Given the description of an element on the screen output the (x, y) to click on. 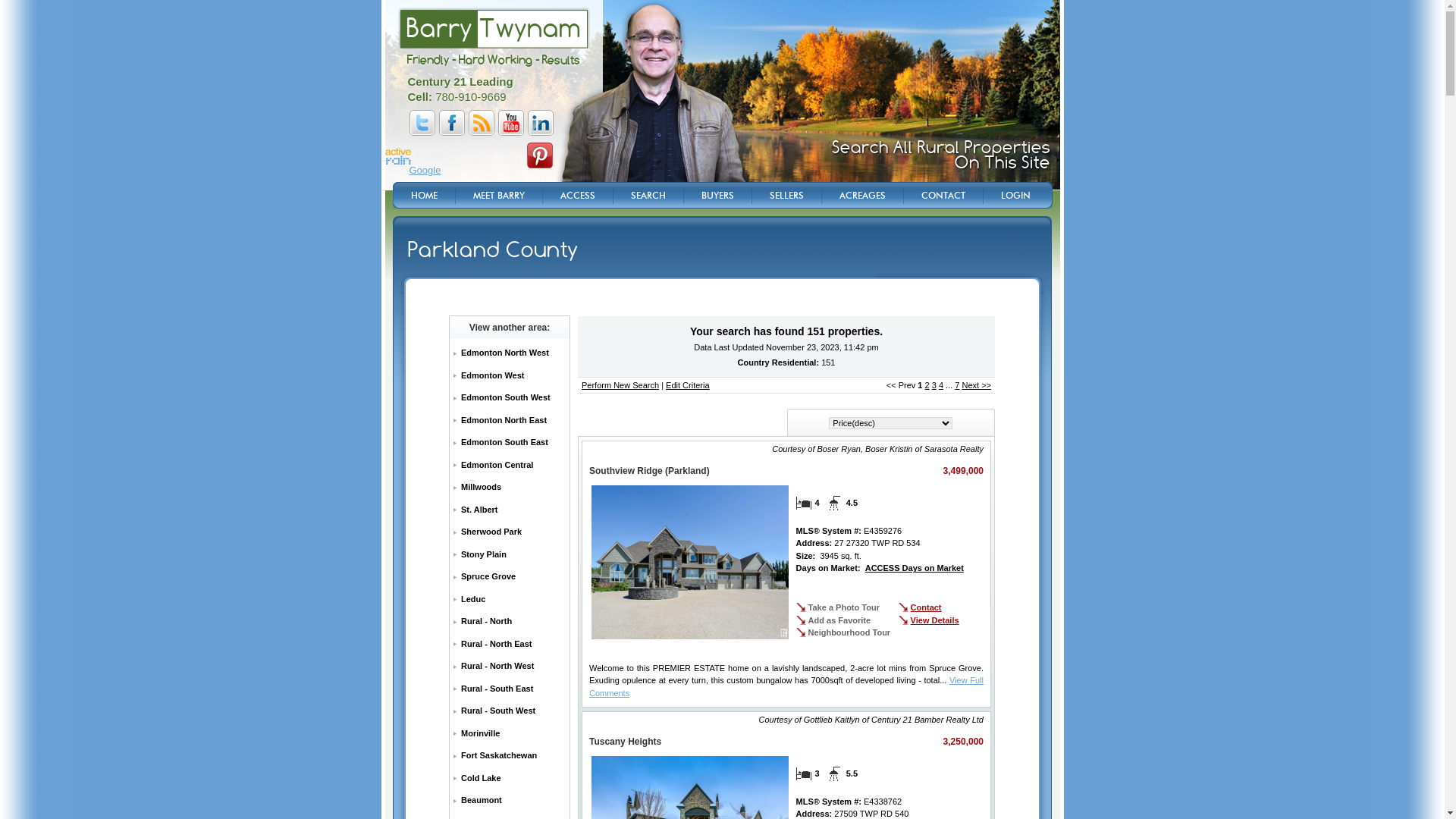
SELLERS Element type: text (785, 195)
LOGIN Element type: text (1015, 195)
and Stony Plain Listings Element type: text (955, 161)
Spruce Grove Element type: text (509, 576)
2 Element type: text (927, 384)
SEARCH Element type: text (647, 195)
Rural - North Element type: text (509, 621)
Add as Favorite Element type: text (833, 619)
Rural - South West Element type: text (509, 710)
HOME Element type: text (423, 195)
Take a Photo Tour Element type: text (837, 606)
Neighbourhood Tour Element type: text (843, 632)
CONTACT Element type: text (942, 195)
7 Element type: text (956, 384)
Edmonton Central Element type: text (509, 464)
ACCESS Days on Market Element type: text (914, 567)
Cold Lake Element type: text (509, 778)
4 Element type: text (940, 384)
Morinville Element type: text (509, 732)
Contact Element type: text (919, 606)
Rural - North East Element type: text (509, 643)
Rural - North West Element type: text (509, 666)
Google Element type: text (425, 170)
View Full Comments Element type: text (786, 686)
BUYERS Element type: text (716, 195)
Edmonton North East Element type: text (509, 420)
Stony Plain Element type: text (509, 553)
Leduc Element type: text (509, 599)
Instant Access to All Spruce Grove Element type: text (928, 154)
Next >> Element type: text (976, 384)
ACREAGES Element type: text (861, 195)
Rural - South East Element type: text (509, 688)
View Details Element type: text (928, 619)
Fort Saskatchewan Element type: text (509, 755)
Perform New Search Element type: text (619, 384)
ACCESS Element type: text (576, 195)
Search All Rural Properties On This Site Element type: text (940, 154)
Beaumont Element type: text (509, 800)
Edmonton South West Element type: text (509, 397)
Edmonton West Element type: text (509, 375)
Edmonton North West Element type: text (509, 353)
  Element type: text (578, 308)
3 Element type: text (933, 384)
Edit Criteria Element type: text (687, 384)
Edmonton South East Element type: text (509, 442)
St. Albert Element type: text (509, 509)
Millwoods Element type: text (509, 487)
Sherwood Park Element type: text (509, 531)
MEET BARRY Element type: text (498, 195)
